Given the description of an element on the screen output the (x, y) to click on. 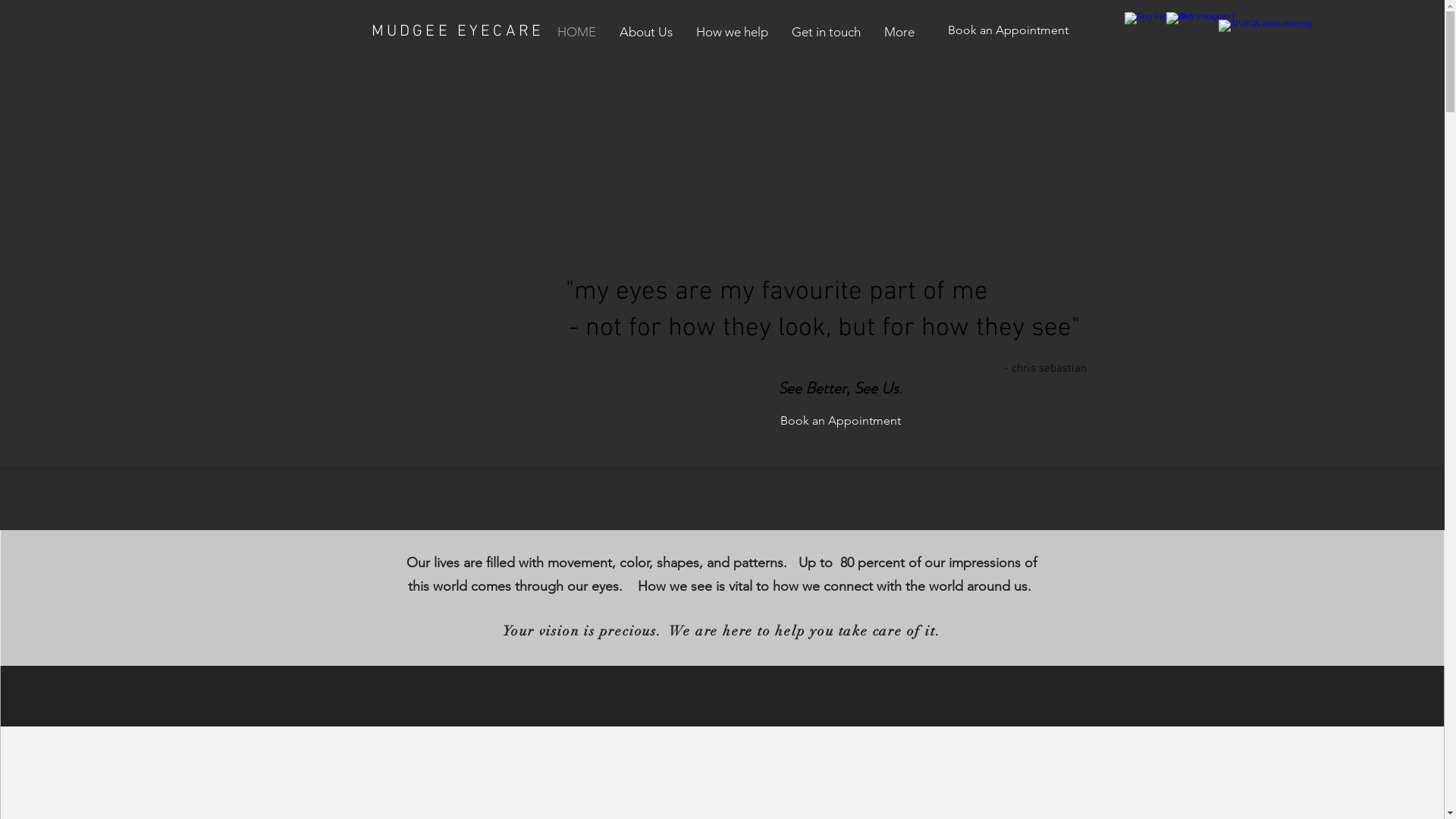
About Us Element type: text (647, 31)
Book an Appointment Element type: text (1008, 30)
How we help Element type: text (733, 31)
Book an Appointment Element type: text (840, 420)
HOME Element type: text (578, 31)
Get in touch Element type: text (827, 31)
